Given the description of an element on the screen output the (x, y) to click on. 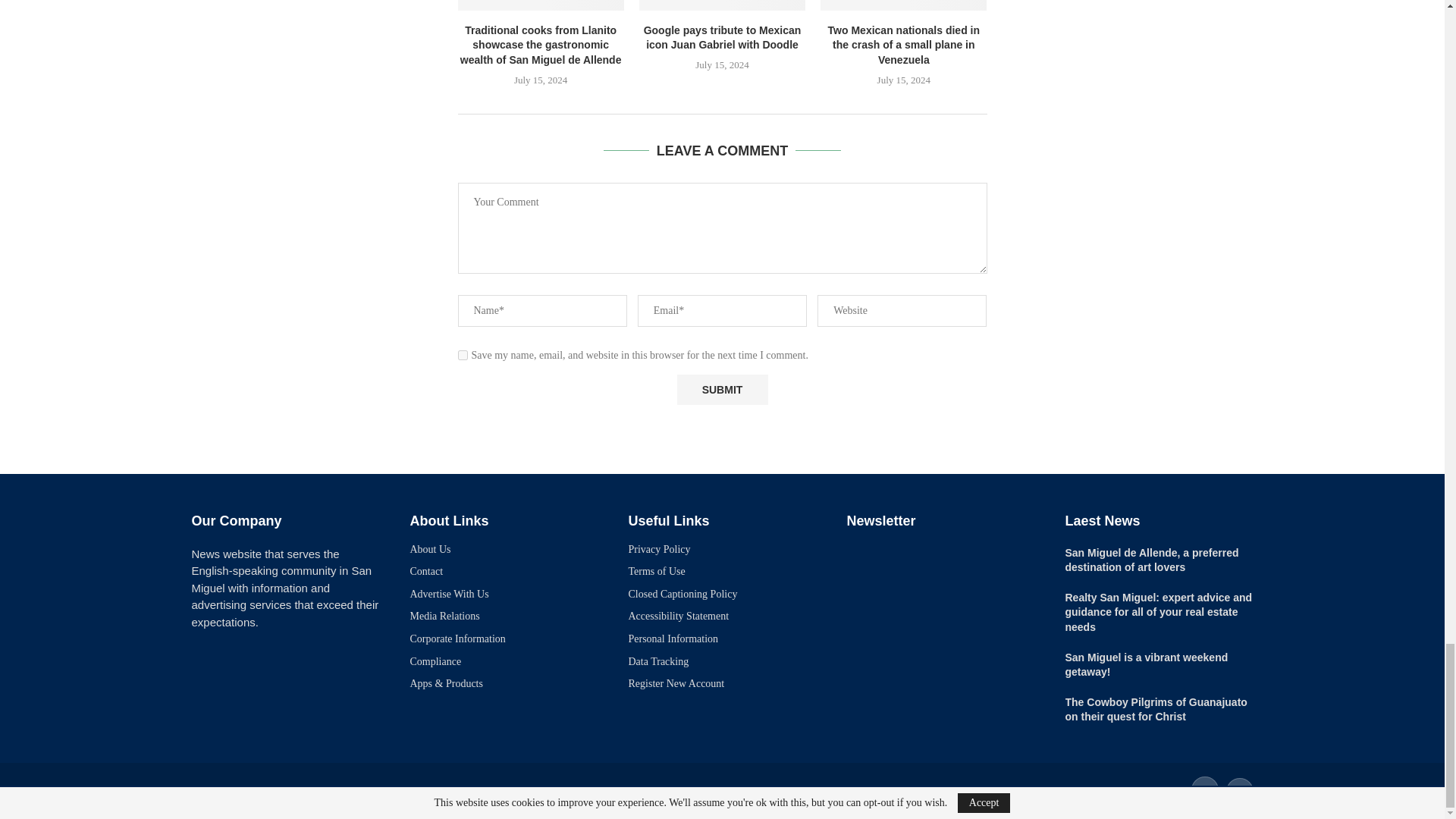
Google pays tribute to Mexican icon Juan Gabriel with Doodle (722, 5)
yes (462, 355)
Submit (722, 389)
